Given the description of an element on the screen output the (x, y) to click on. 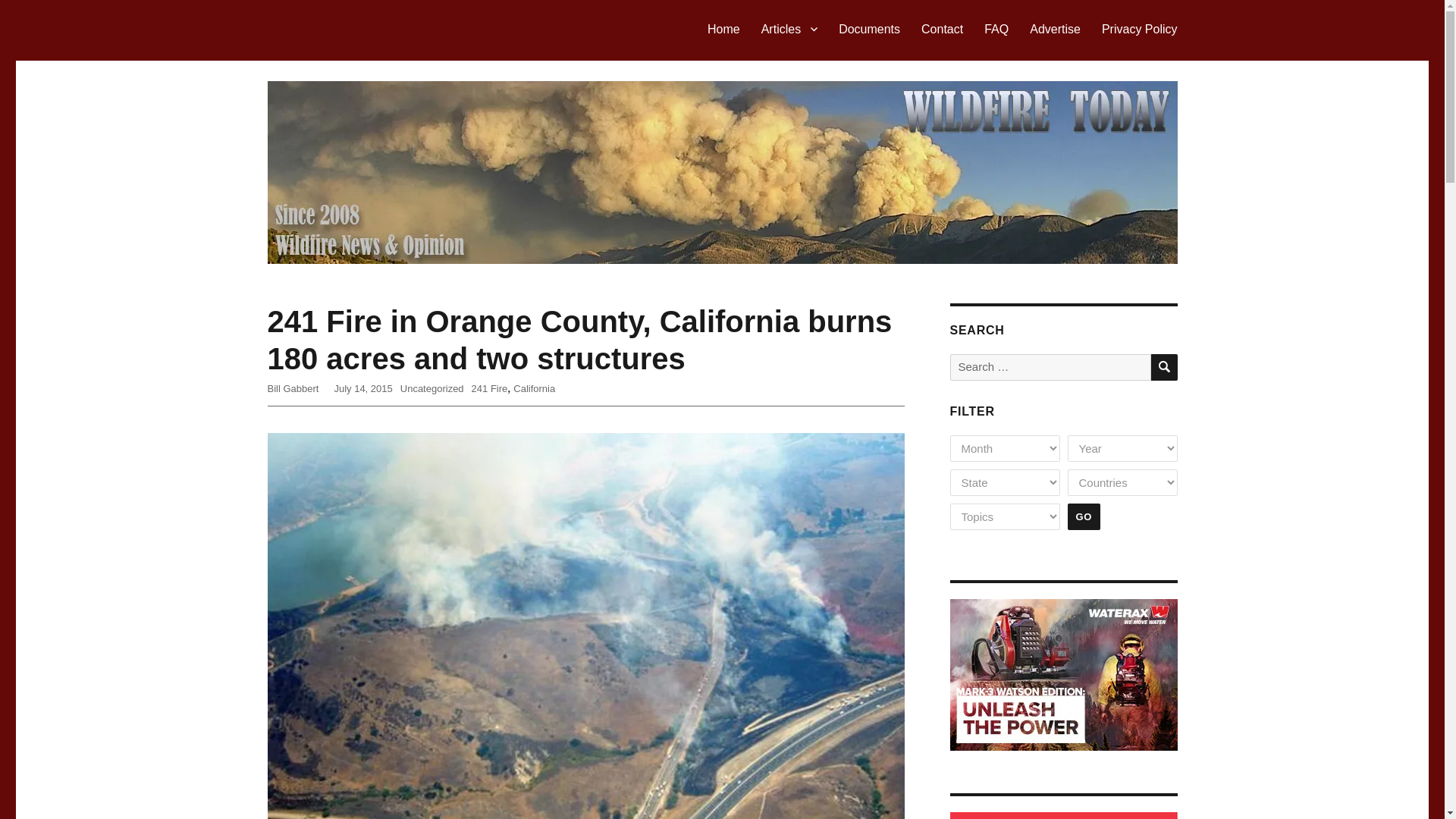
Uncategorized (432, 388)
California (533, 388)
Bill Gabbert (292, 388)
FAQ (996, 29)
241 Fire (489, 388)
Advertise (1054, 29)
Home (724, 29)
Contact (942, 29)
July 14, 2015 (362, 388)
Articles (789, 29)
Privacy Policy (1139, 29)
Go (1083, 516)
Documents (869, 29)
